Given the description of an element on the screen output the (x, y) to click on. 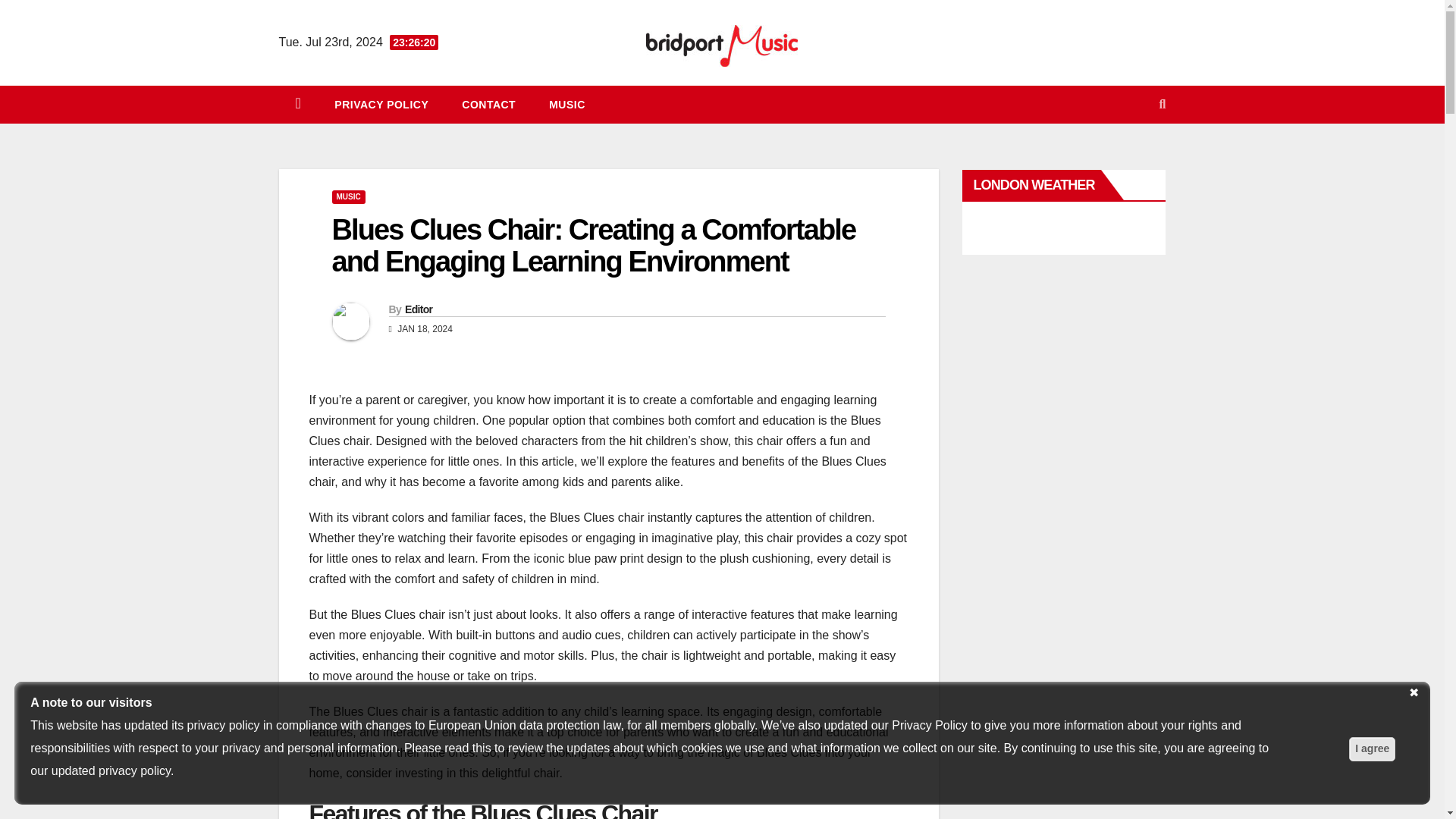
PRIVACY POLICY (381, 104)
Music (567, 104)
Editor (418, 309)
Privacy Policy (381, 104)
Contact (488, 104)
MUSIC (567, 104)
MUSIC (348, 196)
CONTACT (488, 104)
